Given the description of an element on the screen output the (x, y) to click on. 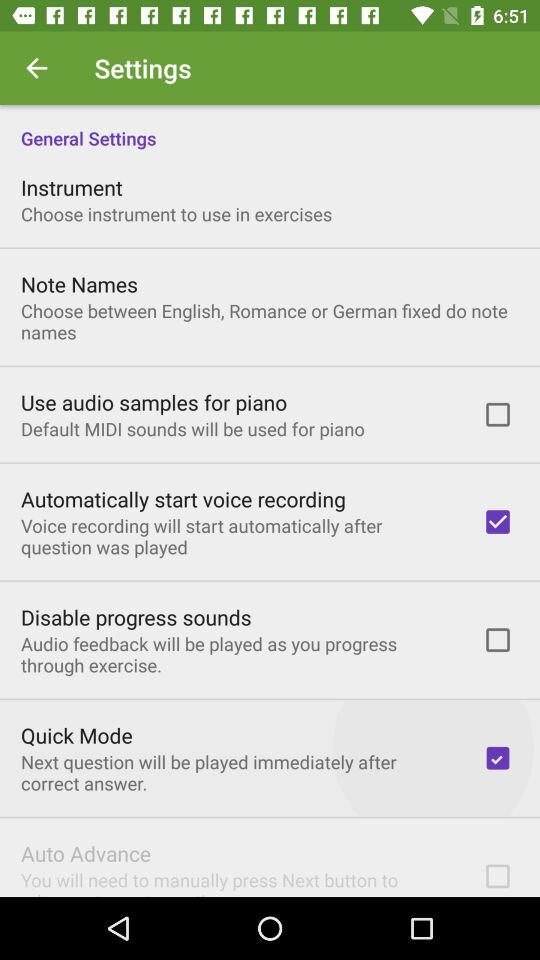
open the audio feedback will icon (238, 654)
